Given the description of an element on the screen output the (x, y) to click on. 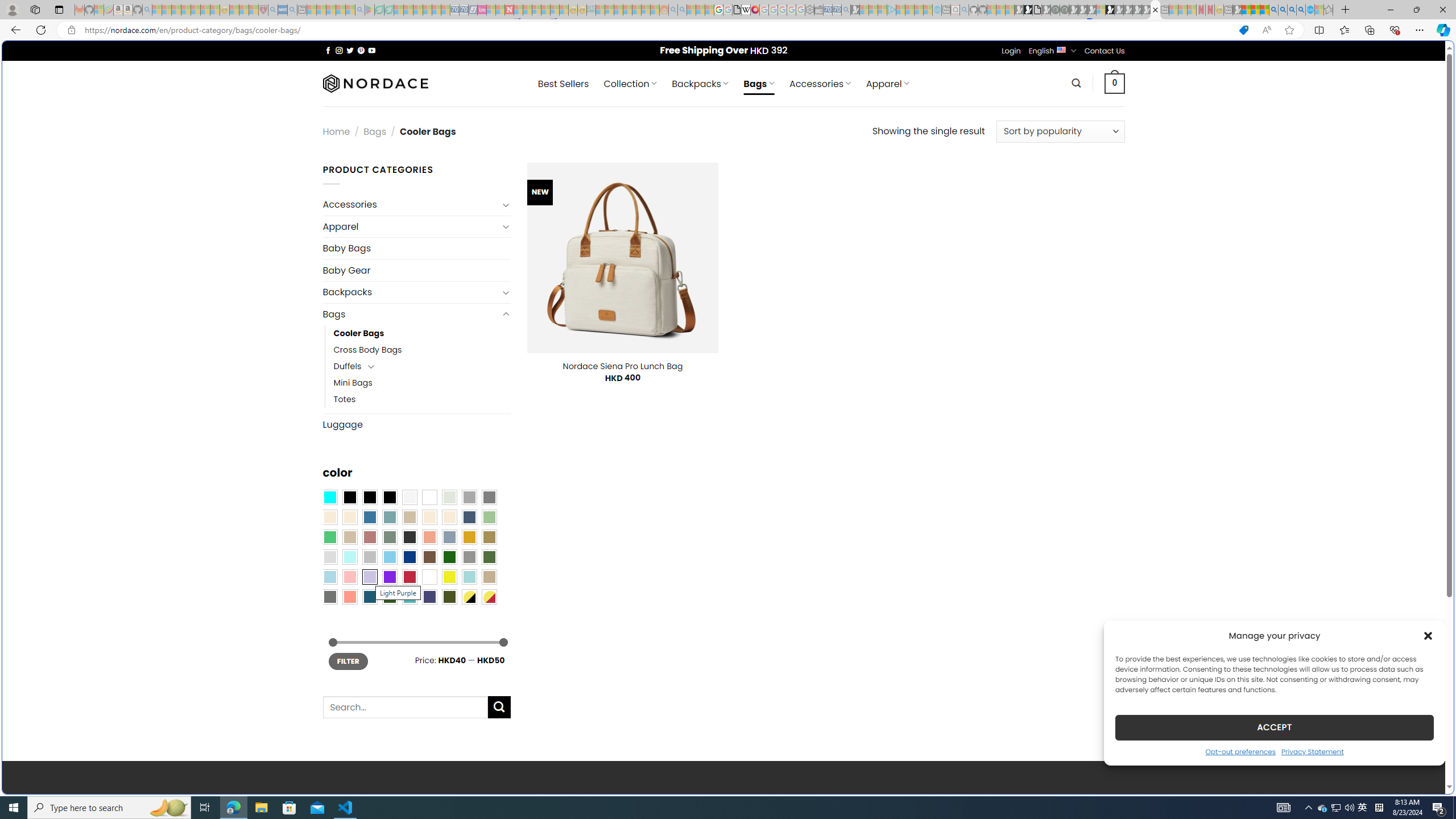
MSN (1118, 536)
Hale Navy (468, 517)
Microsoft account | Privacy - Sleeping (882, 9)
Baby Bags (416, 248)
Jobs - lastminute.com Investor Portal - Sleeping (482, 9)
Light Gray (329, 557)
MediaWiki (754, 9)
Duffels (347, 366)
Yellow (449, 577)
Accessories (410, 204)
